Given the description of an element on the screen output the (x, y) to click on. 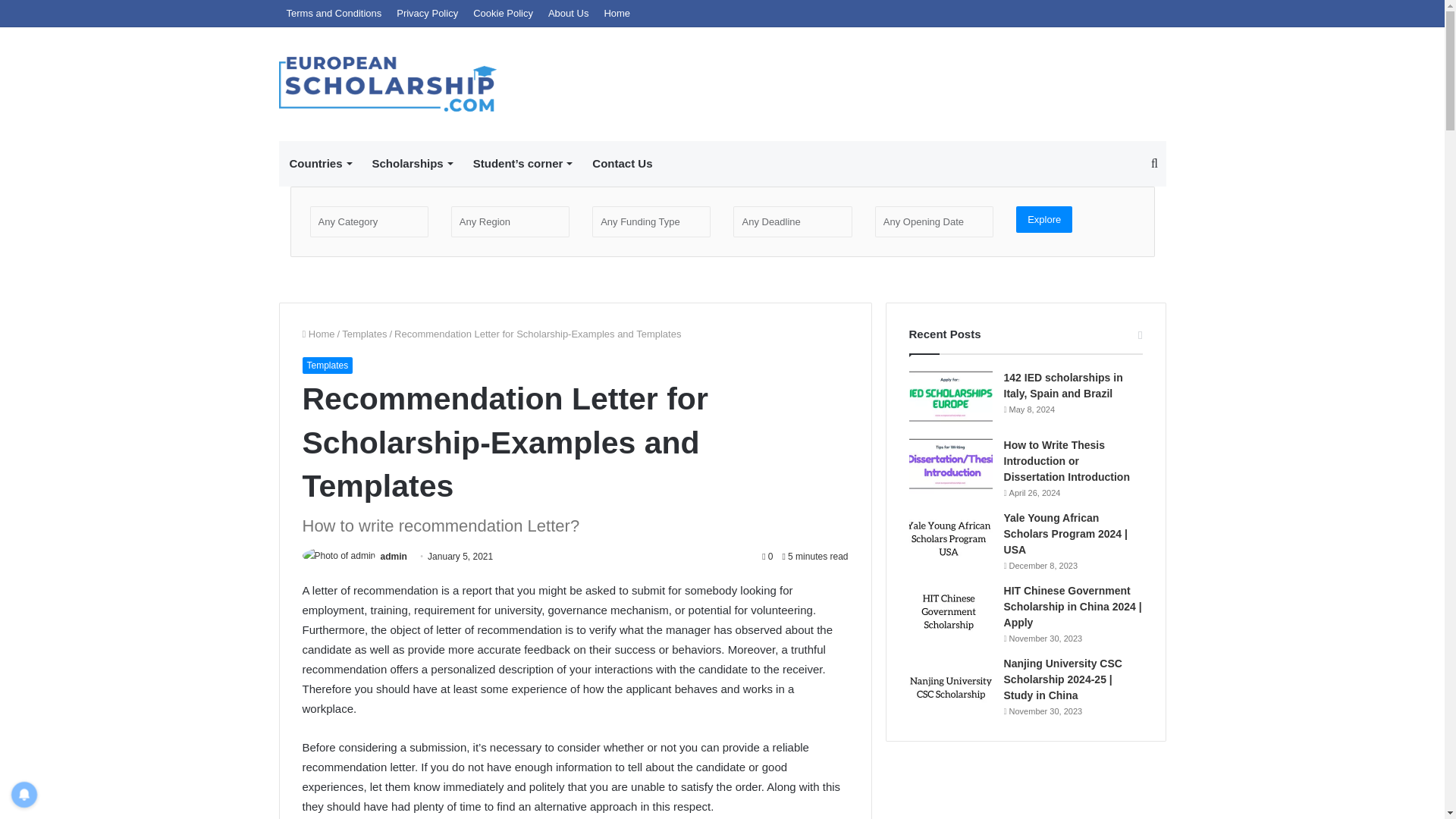
Templates (364, 333)
Cookie Policy (502, 13)
Contact Us (621, 163)
Templates (326, 365)
Home (317, 333)
Explore (1043, 219)
Countries (320, 163)
Scholarships (412, 163)
About Us (567, 13)
Privacy Policy (426, 13)
admin (393, 556)
Home (616, 13)
Terms and Conditions (334, 13)
European Scholarship (387, 83)
Explore (1043, 219)
